Given the description of an element on the screen output the (x, y) to click on. 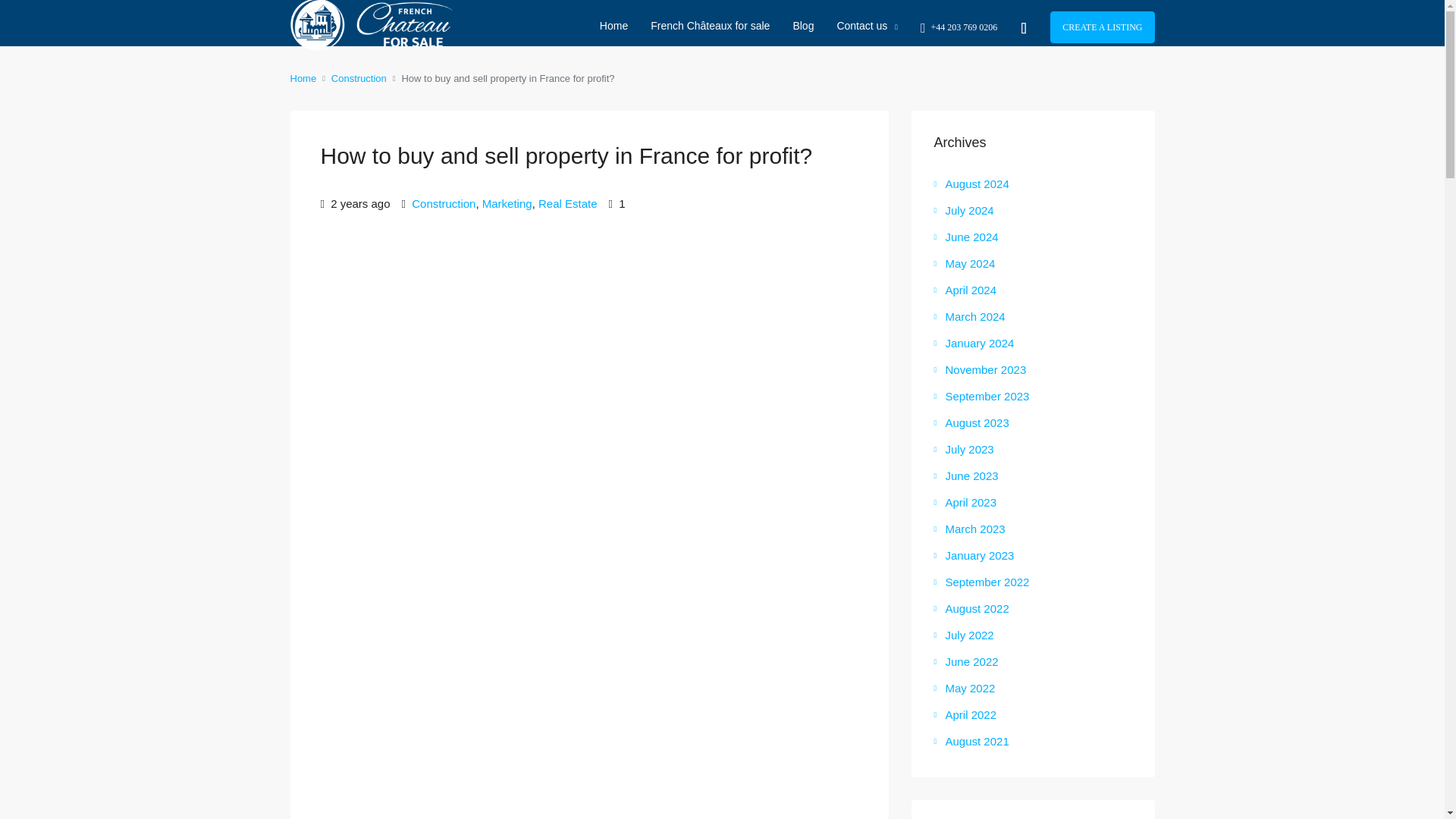
Contact us (866, 26)
Blog (802, 25)
Home (613, 25)
Construction (359, 77)
Real Estate (567, 203)
Home (302, 77)
Construction (444, 203)
Marketing (506, 203)
CREATE A LISTING (1101, 27)
